Given the description of an element on the screen output the (x, y) to click on. 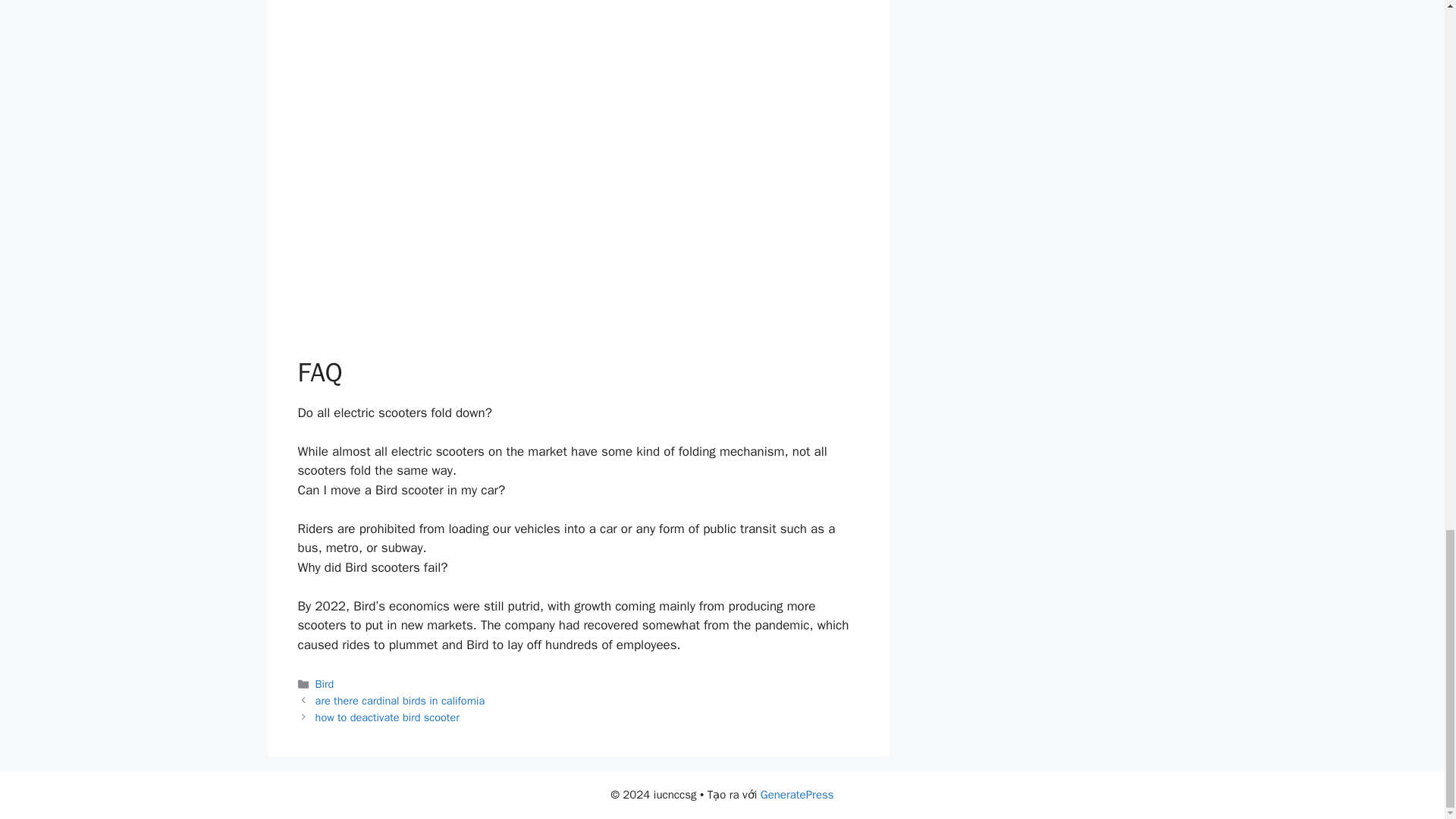
GeneratePress (797, 794)
how to deactivate bird scooter (387, 716)
are there cardinal birds in california (399, 700)
Bird (324, 684)
